Given the description of an element on the screen output the (x, y) to click on. 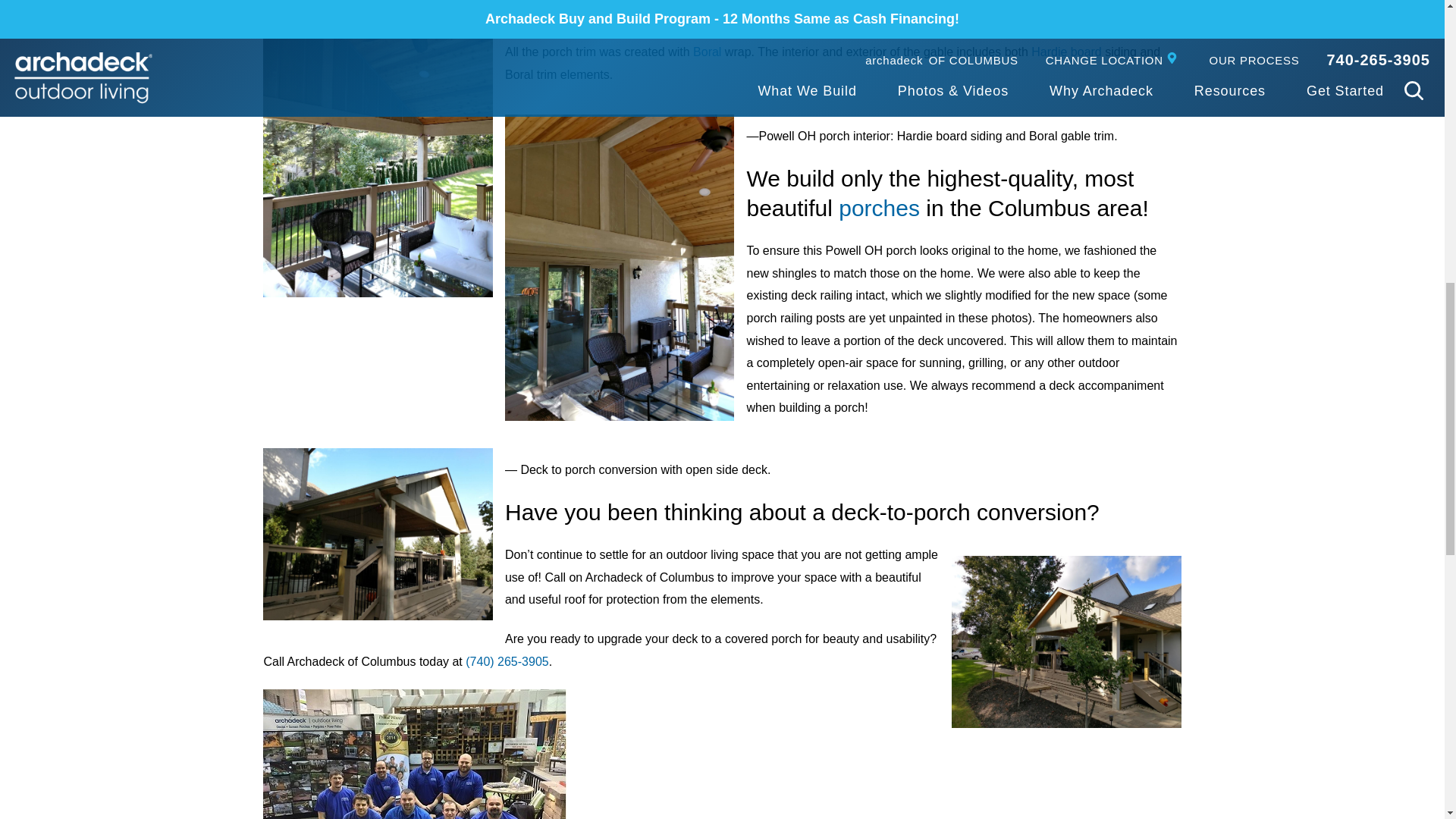
The-open-side-deck-is-perfect-for-grilling (378, 533)
Thinking-of-converting-your-deck-to-a-porch? (1066, 642)
